Given the description of an element on the screen output the (x, y) to click on. 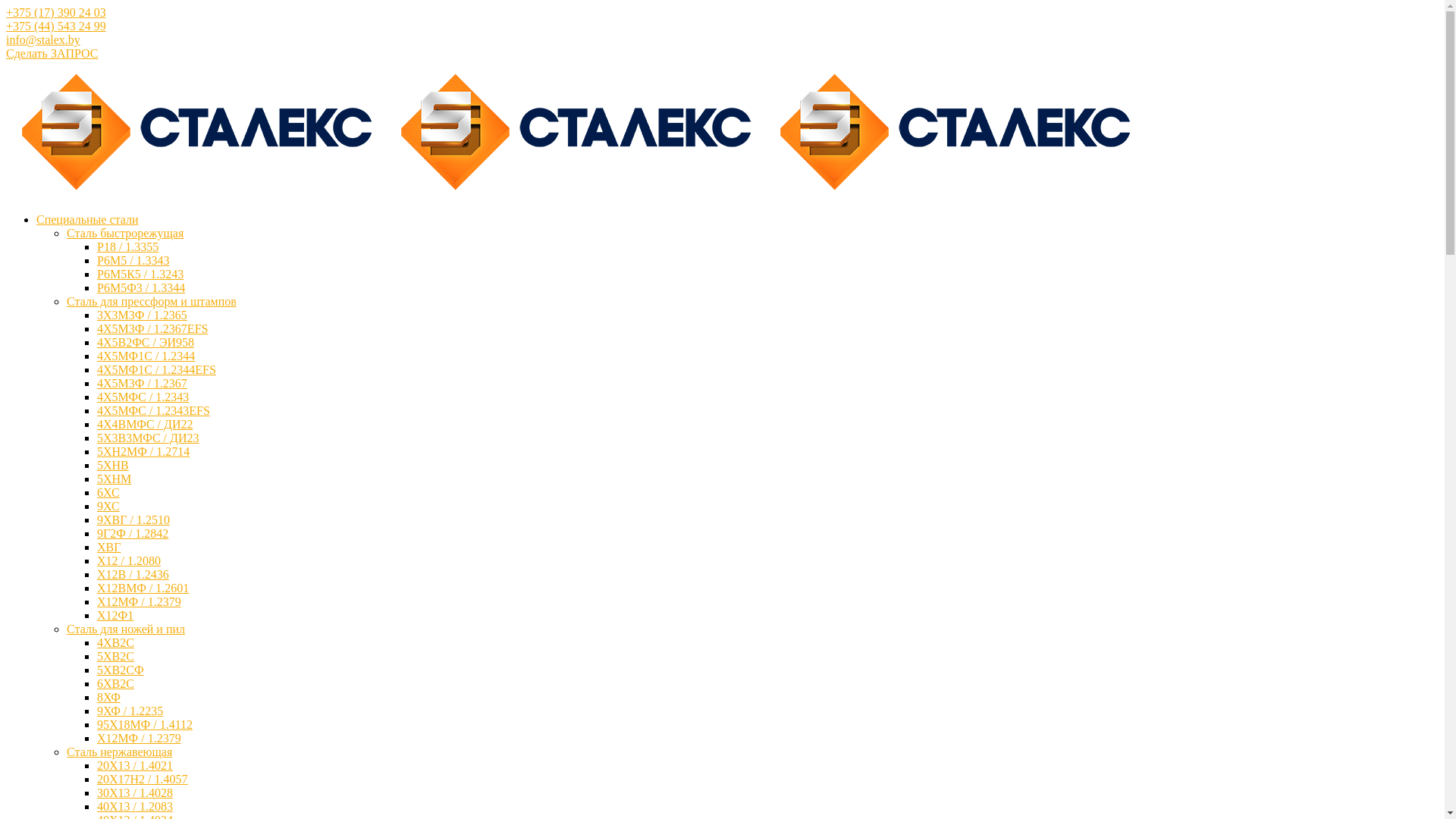
+375 (44) 543 24 99 Element type: text (56, 25)
info@stalex.by Element type: text (43, 39)
+375 (17) 390 24 03 Element type: text (56, 12)
